Given the description of an element on the screen output the (x, y) to click on. 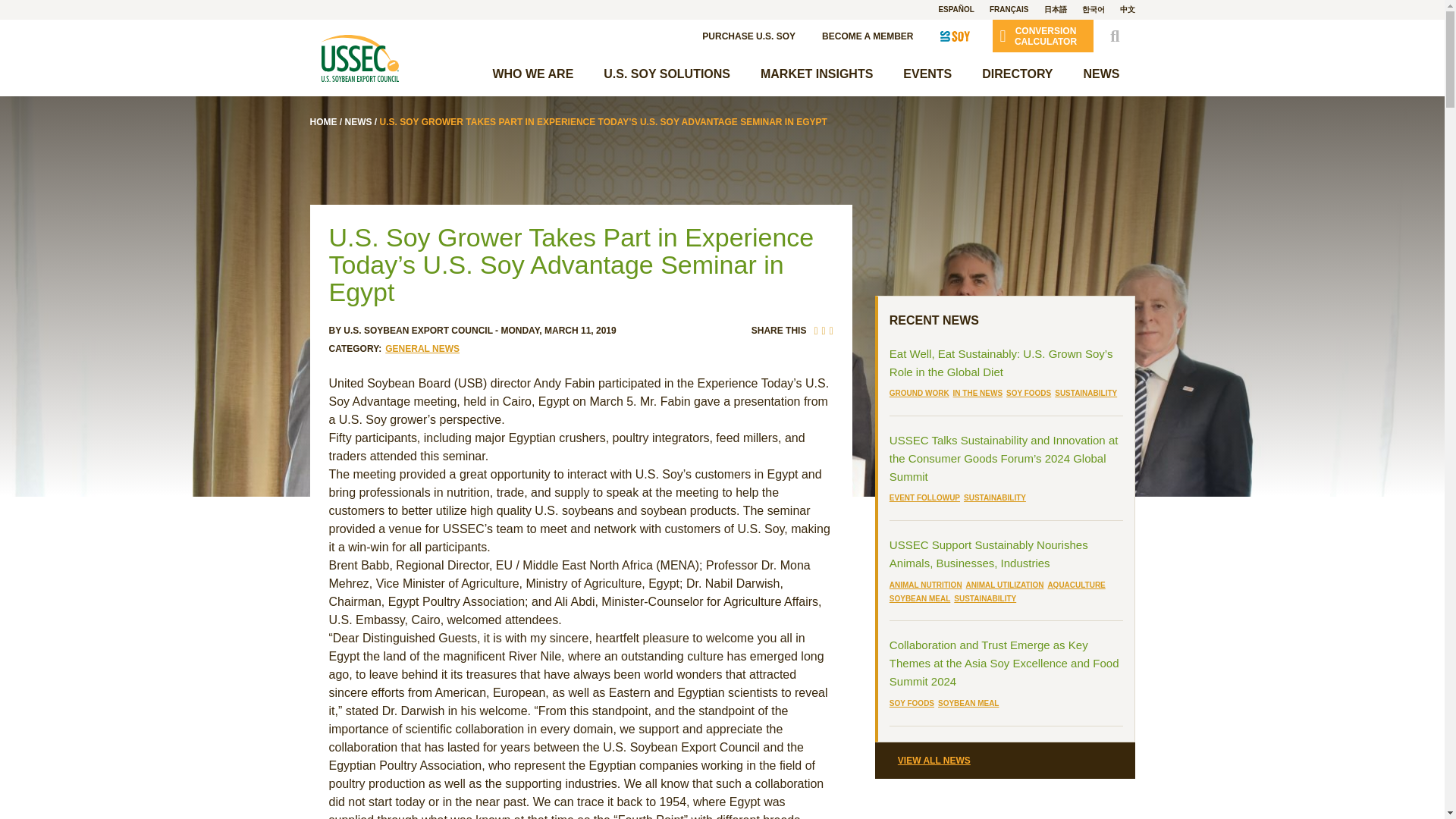
WHO WE ARE (532, 74)
CONVERSION CALCULATOR (1042, 35)
EVENTS (927, 74)
U.S. SOY SOLUTIONS (666, 74)
BECOME A MEMBER (867, 35)
PURCHASE U.S. SOY (747, 35)
USSOY (954, 35)
MARKET INSIGHTS (816, 74)
U.S. Soybean Export Council (359, 57)
DIRECTORY (1016, 74)
